Given the description of an element on the screen output the (x, y) to click on. 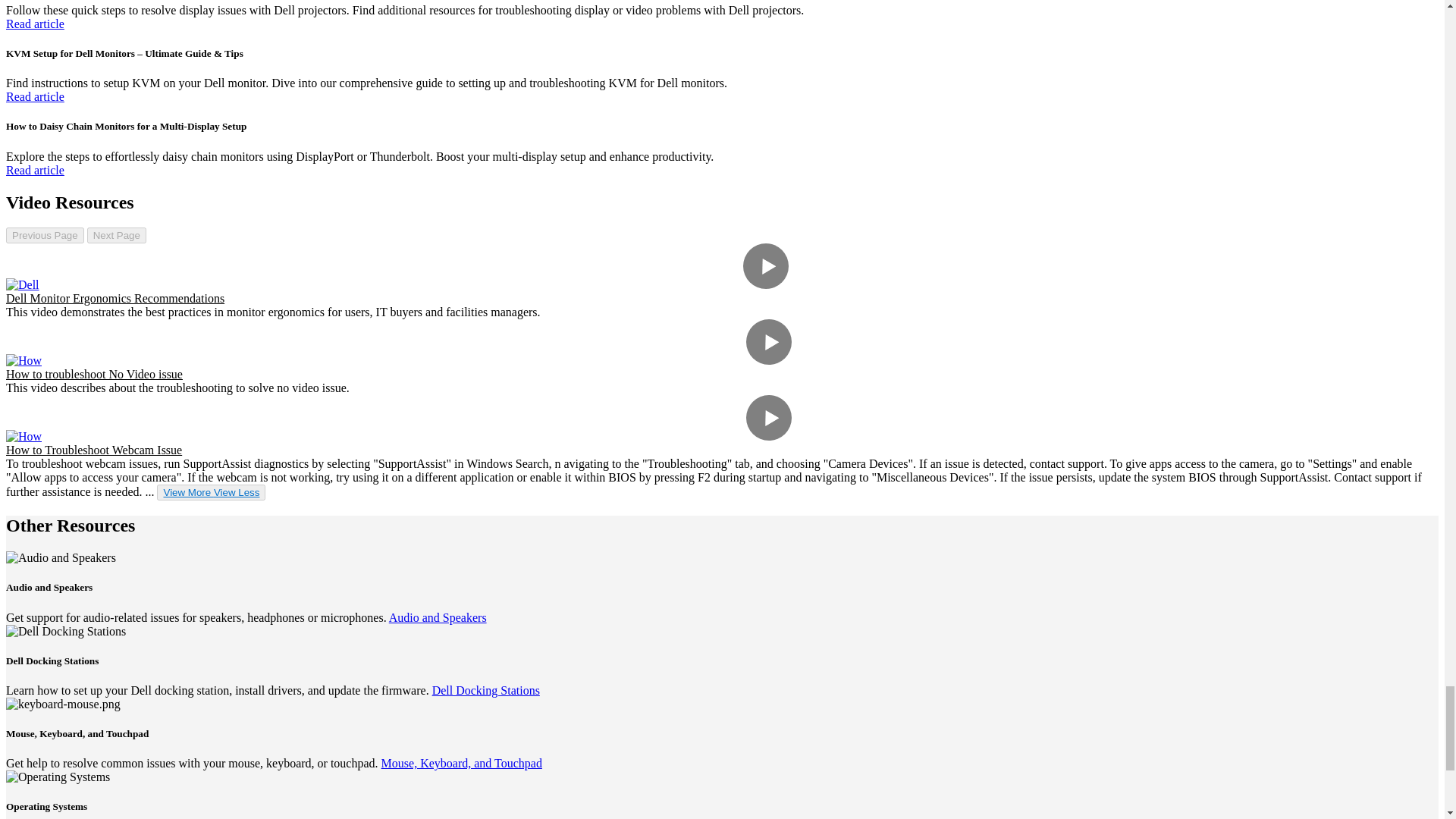
Dell Docking Stations (486, 689)
Mouse, Keyboard, and Touchpad (461, 762)
Audio and Speakers (437, 617)
